Given the description of an element on the screen output the (x, y) to click on. 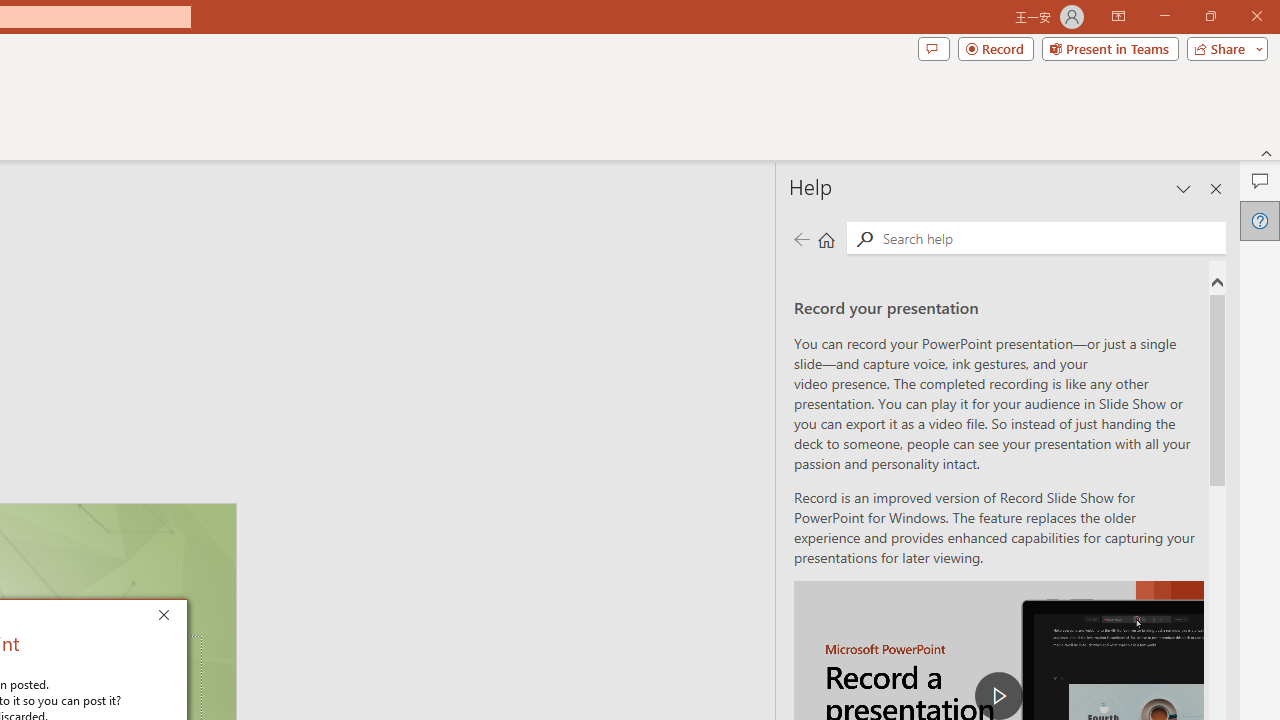
Previous page (801, 238)
